Given the description of an element on the screen output the (x, y) to click on. 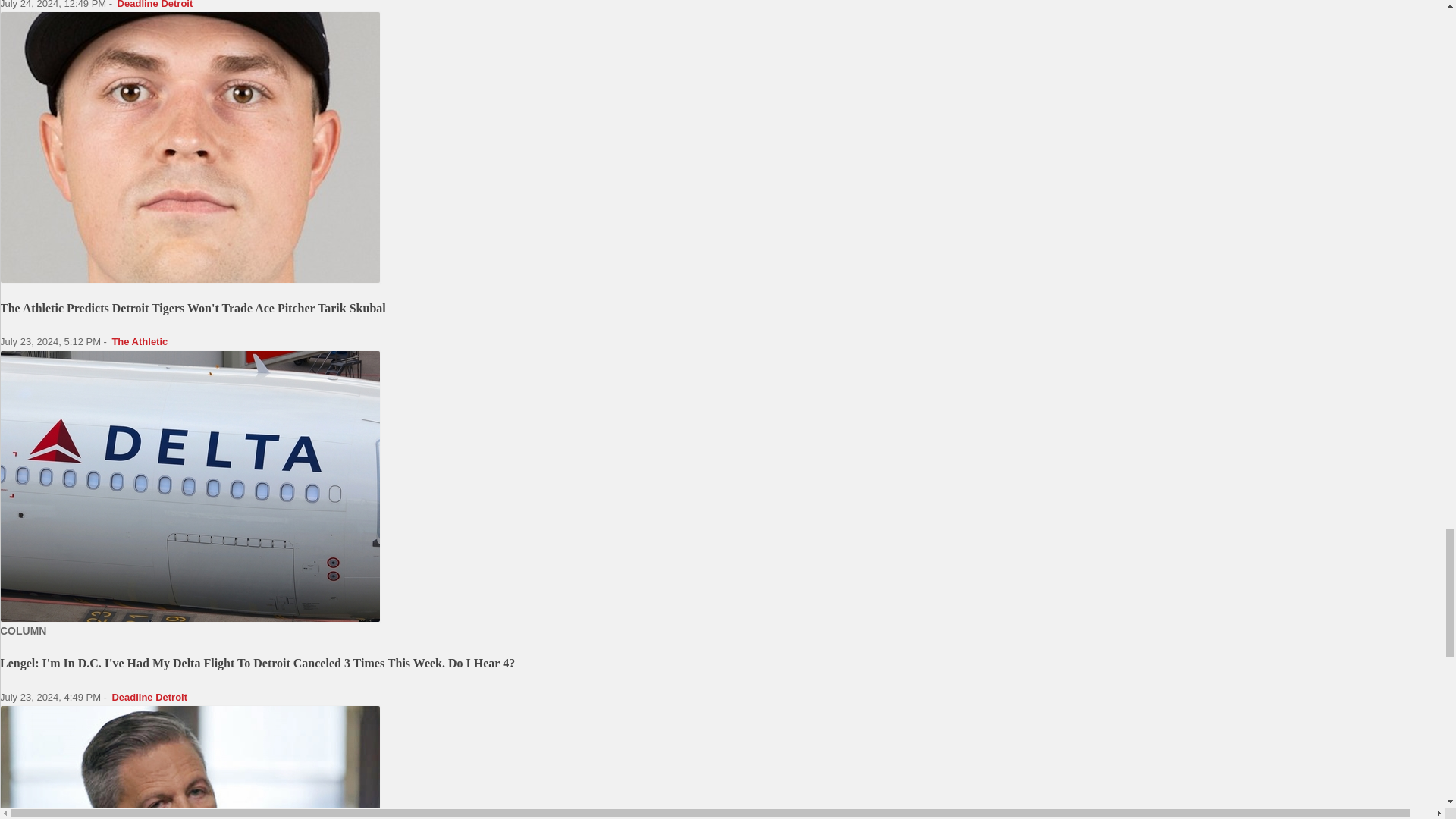
Deadline Detroit (155, 4)
